Given the description of an element on the screen output the (x, y) to click on. 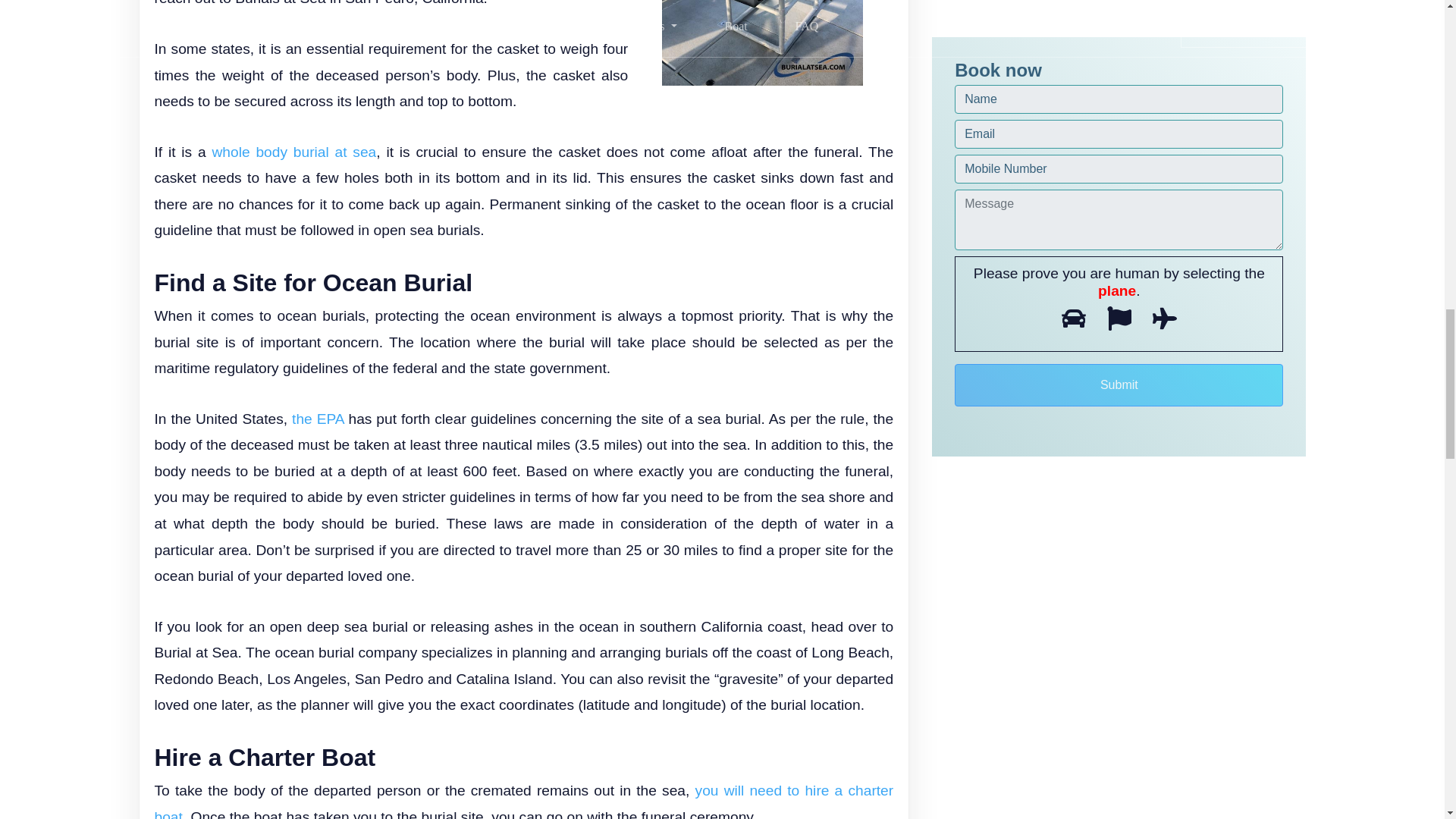
you will need to hire a charter boat (523, 800)
whole body burial at sea (293, 151)
the EPA (317, 418)
